Given the description of an element on the screen output the (x, y) to click on. 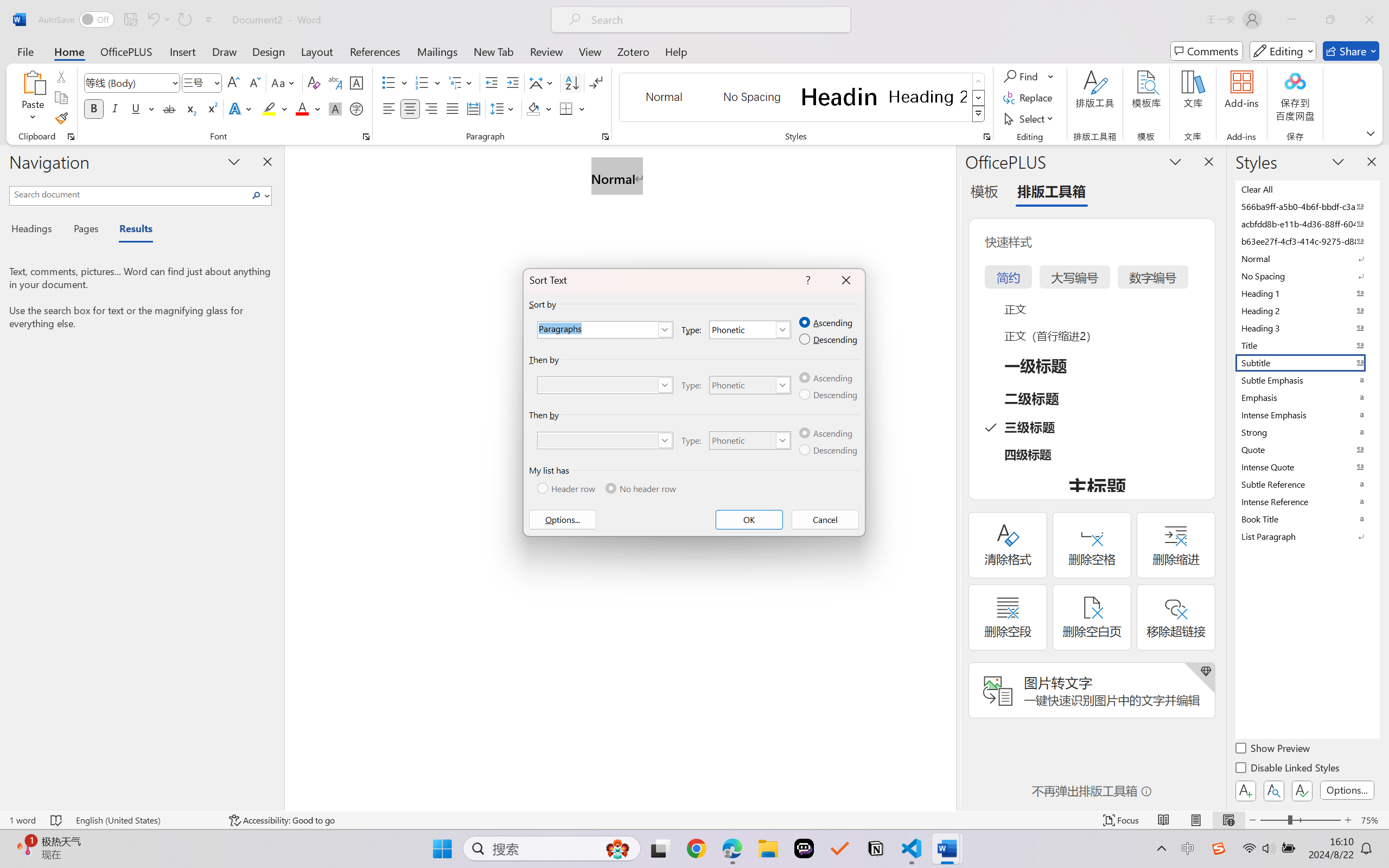
Strikethrough (169, 108)
Mode (1283, 50)
Book Title (1306, 518)
Print Layout (1196, 819)
Shrink Font (253, 82)
Intense Reference (1306, 501)
Bullets (395, 82)
Clear All (1306, 188)
Descending (828, 450)
